Given the description of an element on the screen output the (x, y) to click on. 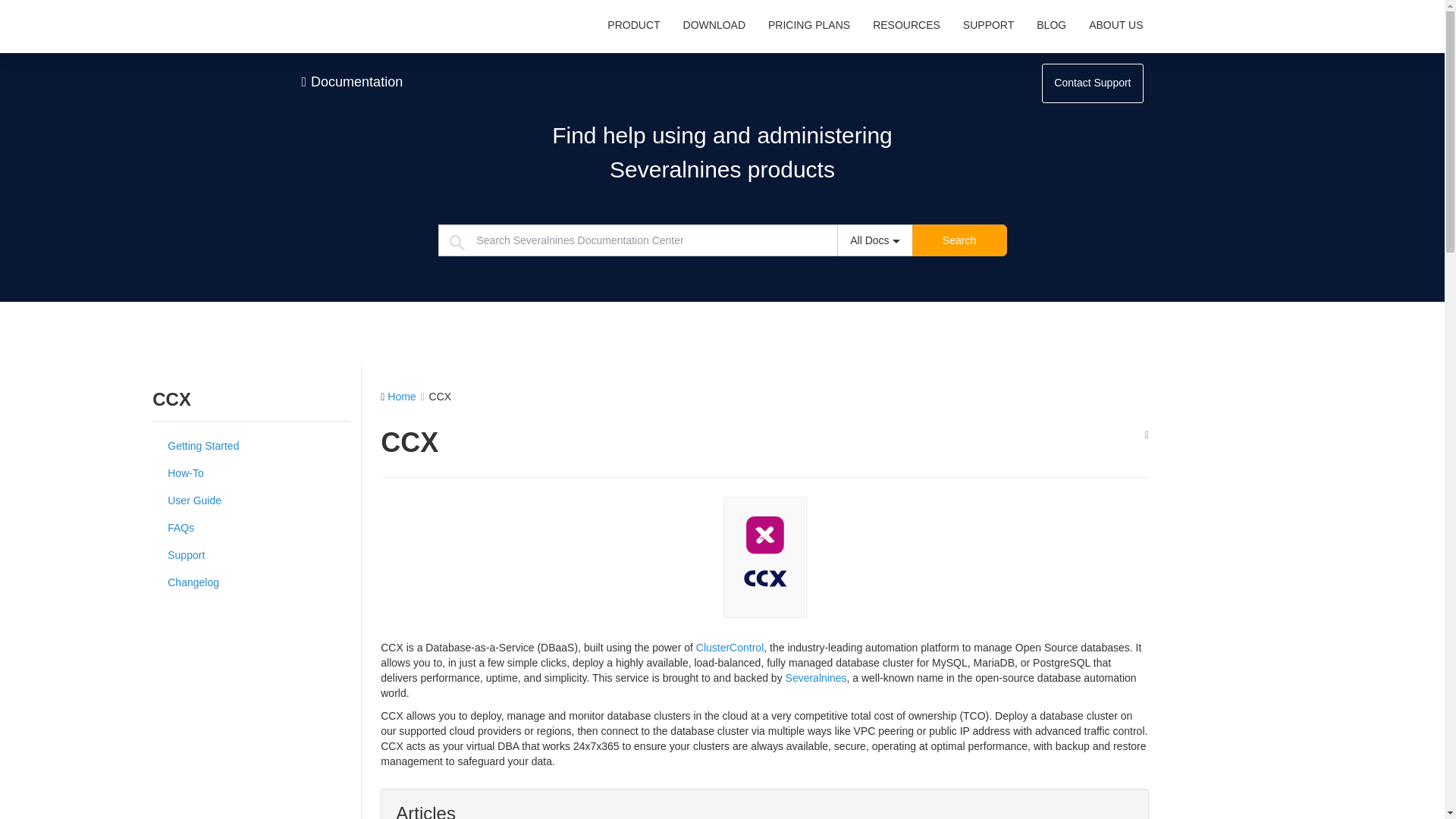
RESOURCES (906, 25)
PRICING PLANS (809, 25)
DOWNLOAD (714, 25)
Getting Started (250, 446)
User Guide (250, 501)
All Docs (874, 240)
Contact Support (1092, 83)
Search (958, 240)
ABOUT US (1115, 25)
Documentation (352, 81)
